Given the description of an element on the screen output the (x, y) to click on. 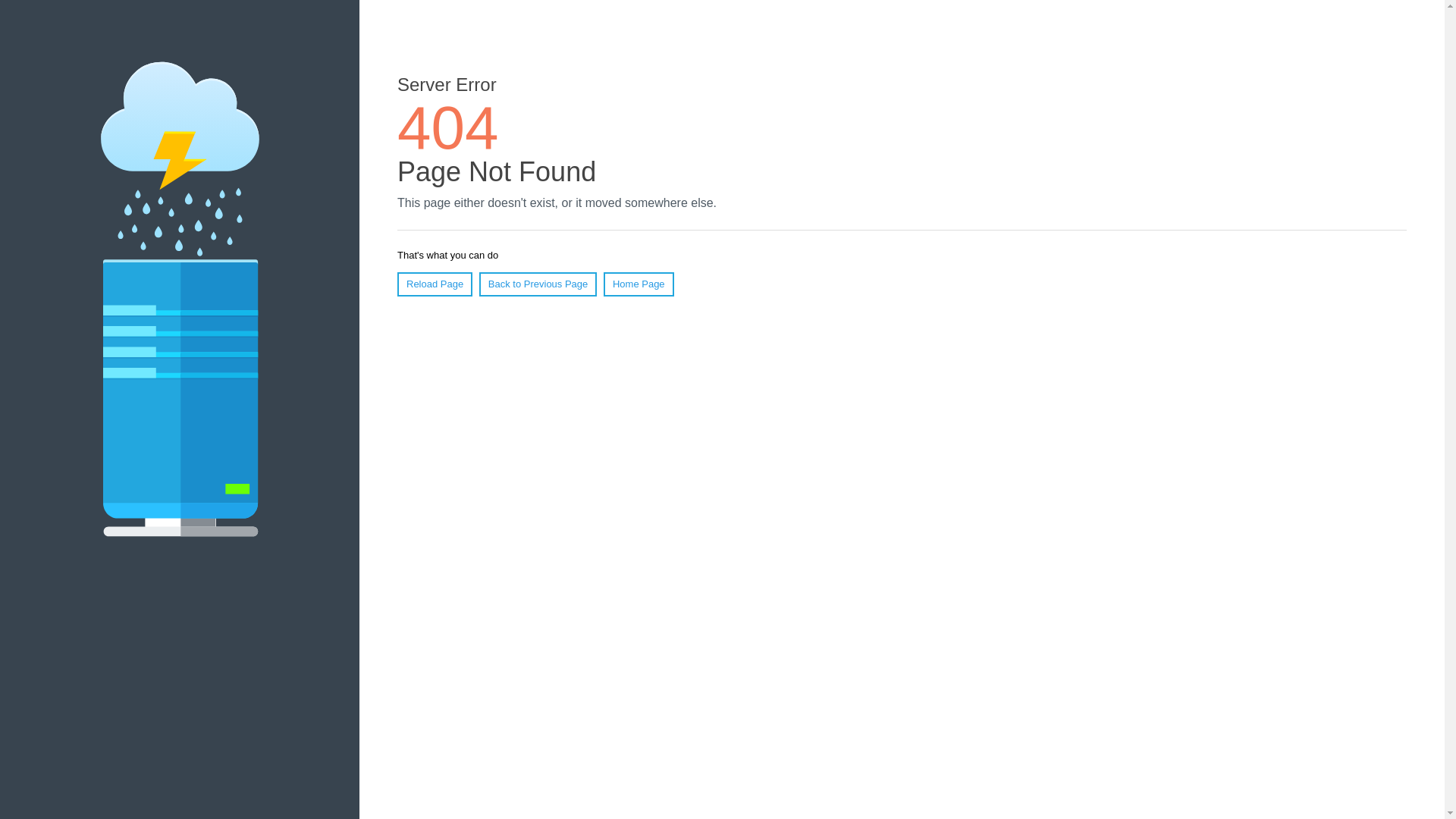
Back to Previous Page Element type: text (538, 284)
Reload Page Element type: text (434, 284)
Home Page Element type: text (638, 284)
